Given the description of an element on the screen output the (x, y) to click on. 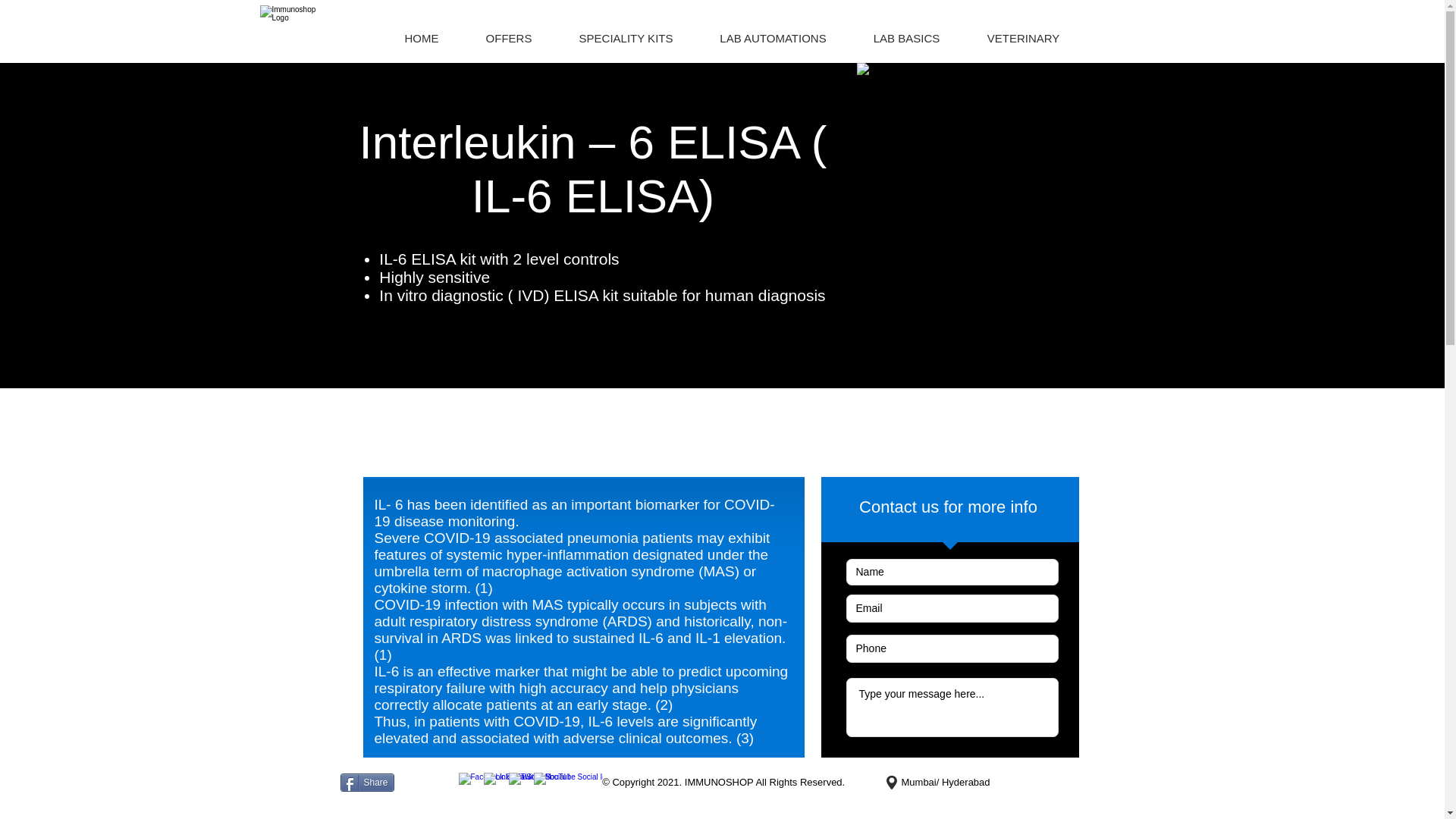
Twitter Tweet (421, 782)
Share (366, 782)
